Given the description of an element on the screen output the (x, y) to click on. 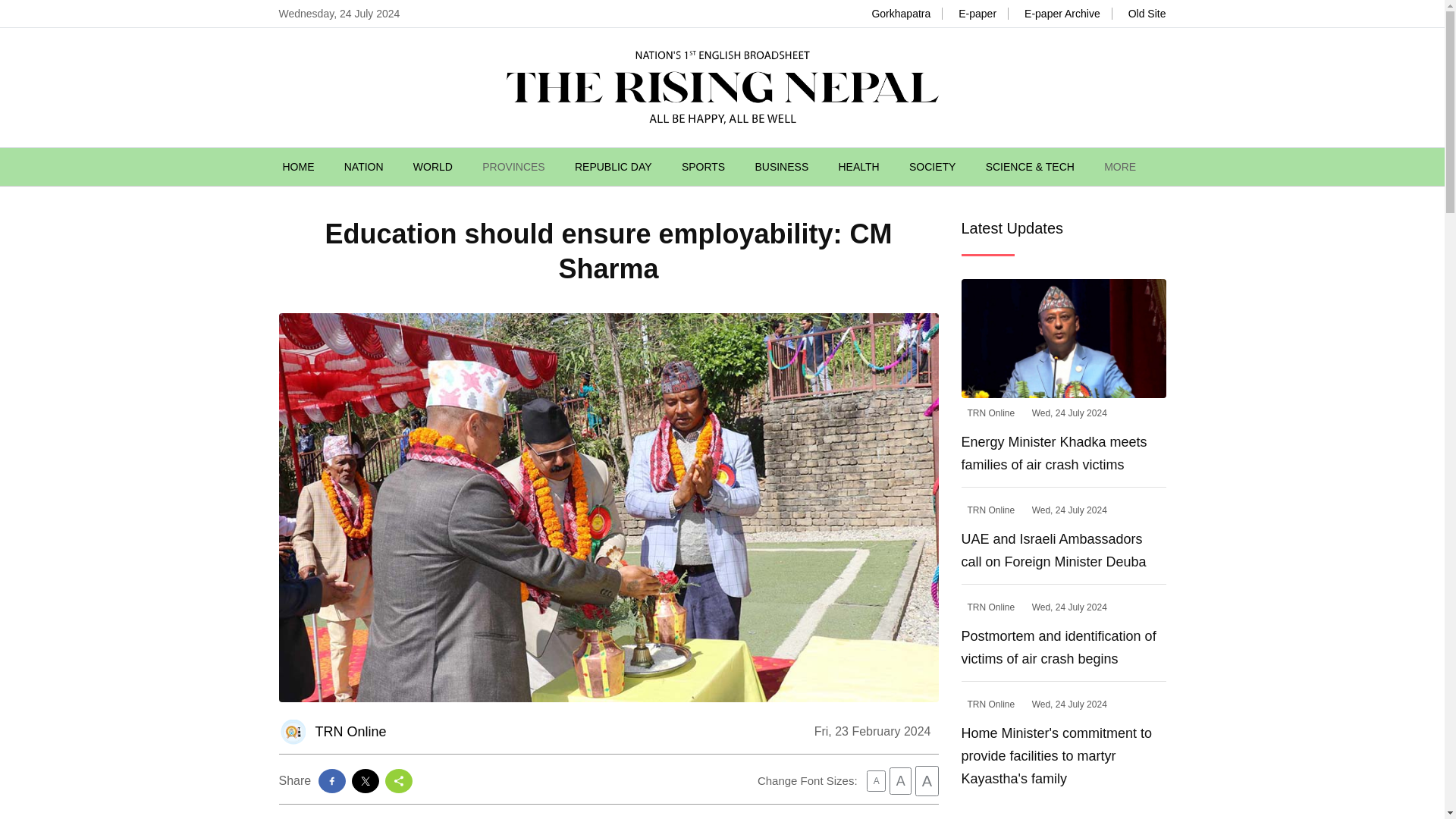
HEALTH (858, 166)
BUSINESS (781, 166)
E-paper (975, 13)
PROVINCES (512, 166)
Old Site (1145, 13)
NATION (363, 166)
WORLD (432, 166)
A (875, 780)
E-paper Archive (1060, 13)
Gorkhapatra (898, 13)
SOCIETY (931, 166)
REPUBLIC DAY (613, 166)
SPORTS (703, 166)
HOME (296, 166)
